Given the description of an element on the screen output the (x, y) to click on. 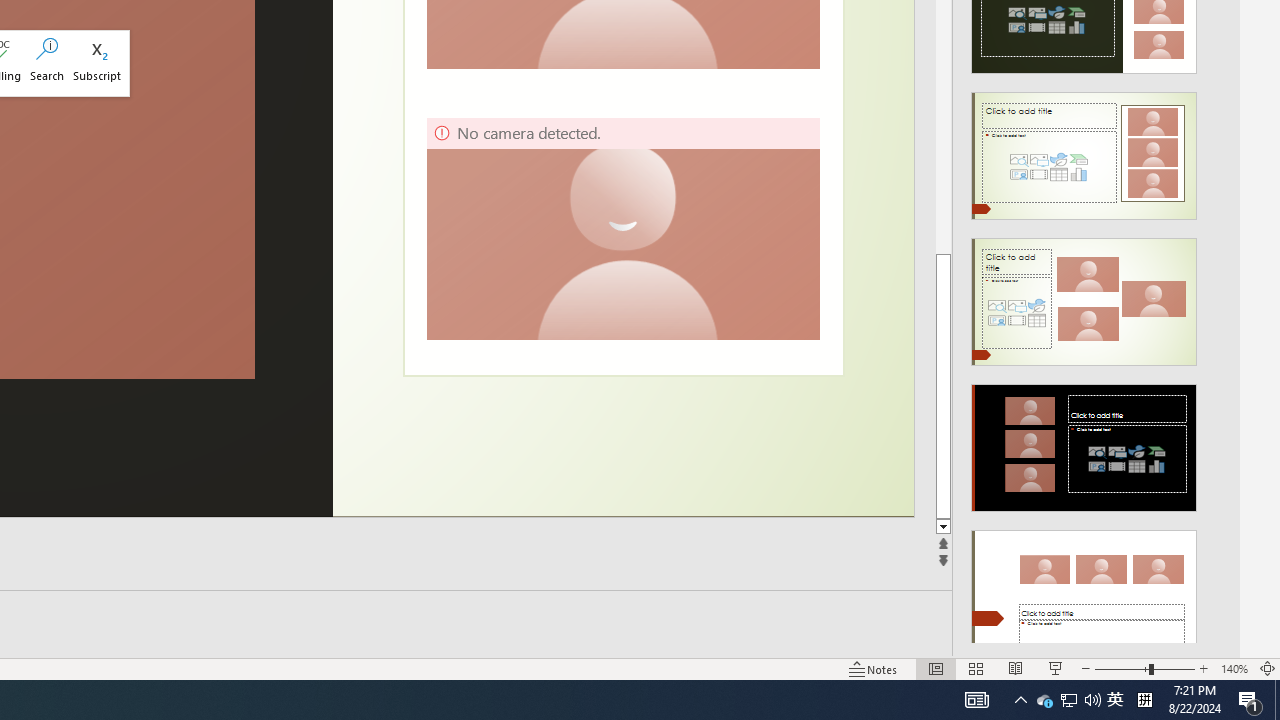
Zoom In (1204, 668)
